Given the description of an element on the screen output the (x, y) to click on. 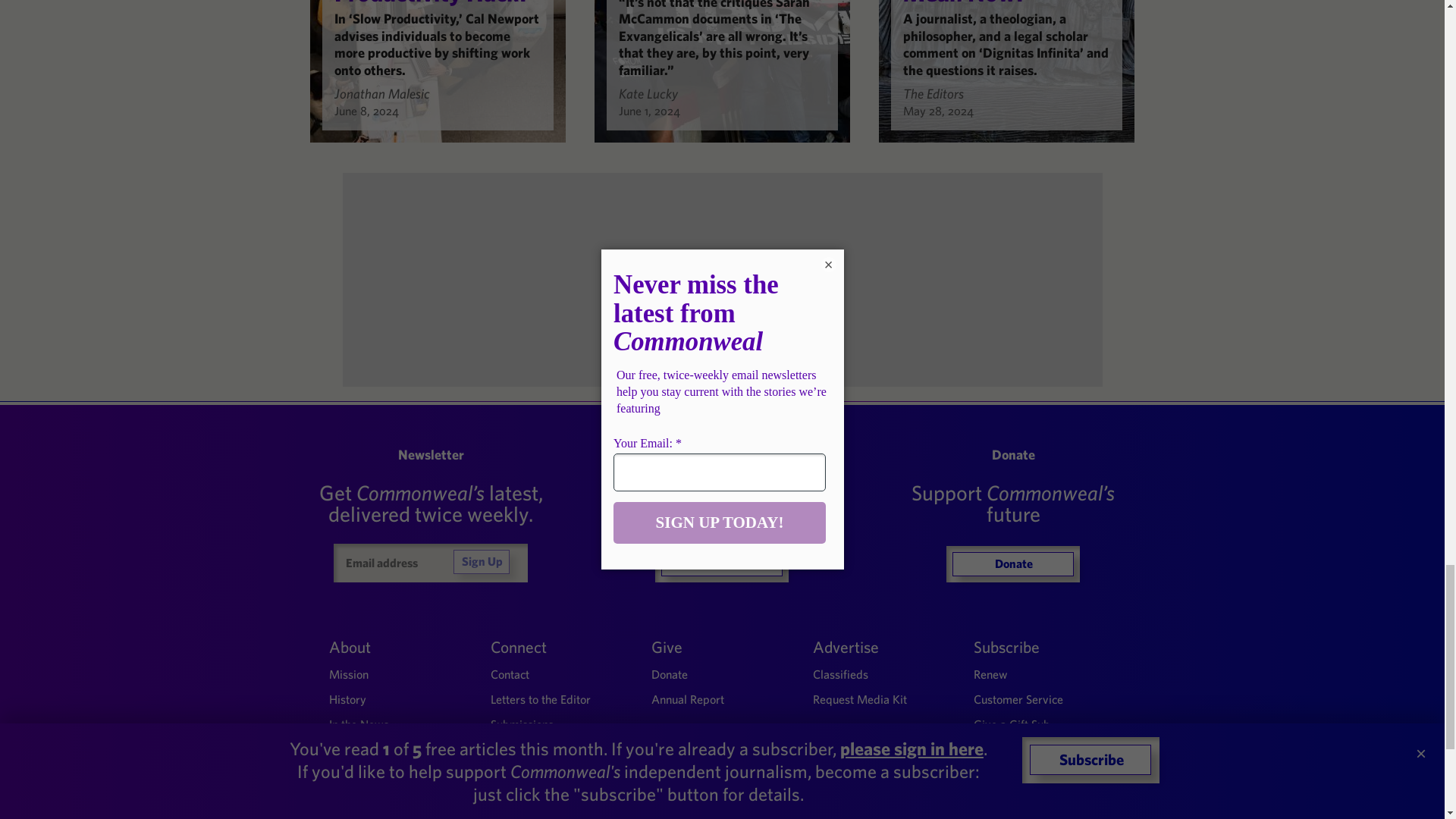
Saturday, June 8, 2024 - 14:07 (365, 110)
View user profile. (648, 93)
Sign Up (480, 561)
Tuesday, May 28, 2024 - 16:43 (938, 110)
View user profile. (932, 93)
Saturday, June 1, 2024 - 14:44 (648, 110)
View user profile. (381, 93)
